Given the description of an element on the screen output the (x, y) to click on. 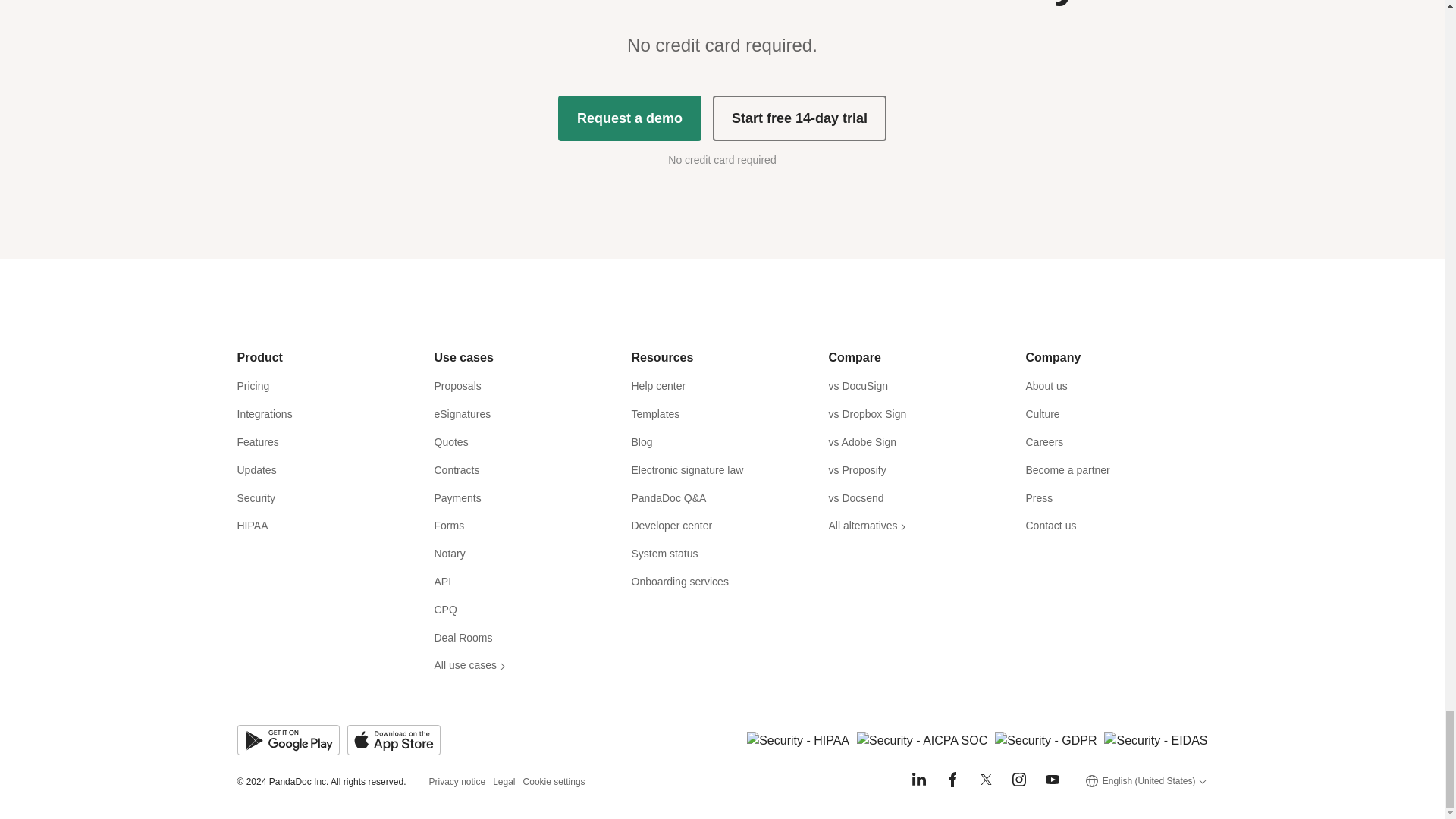
Twitter (985, 779)
Facebook (951, 779)
LinkedIn (919, 779)
Youtube (1052, 779)
Instagram (1018, 779)
